Given the description of an element on the screen output the (x, y) to click on. 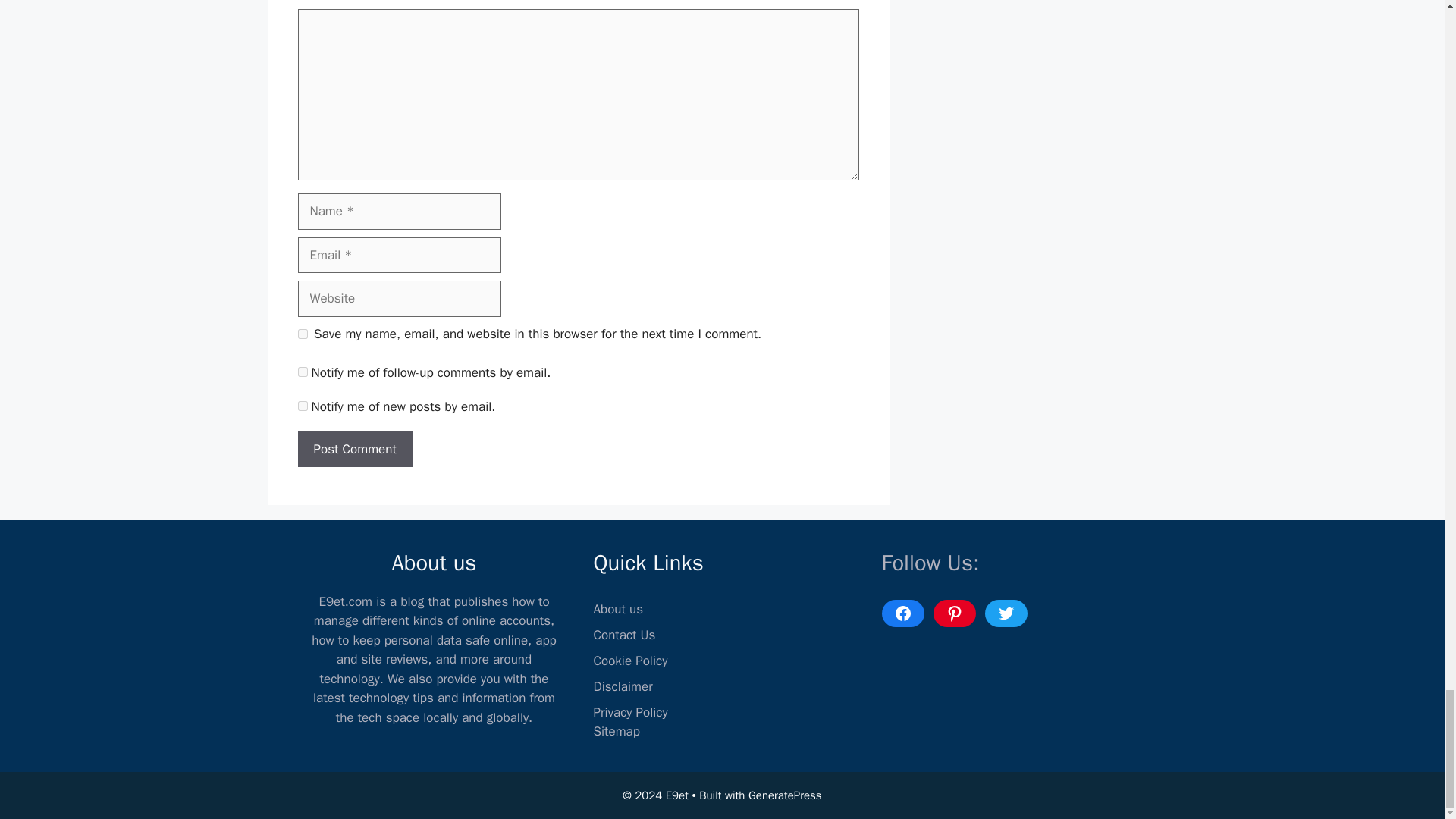
subscribe (302, 406)
Facebook (901, 613)
About us (617, 609)
Sitemap (615, 731)
yes (302, 334)
Disclaimer (622, 686)
Contact Us (623, 634)
subscribe (302, 371)
Post Comment (354, 449)
Cookie Policy (629, 660)
Post Comment (354, 449)
Privacy Policy (629, 712)
